Given the description of an element on the screen output the (x, y) to click on. 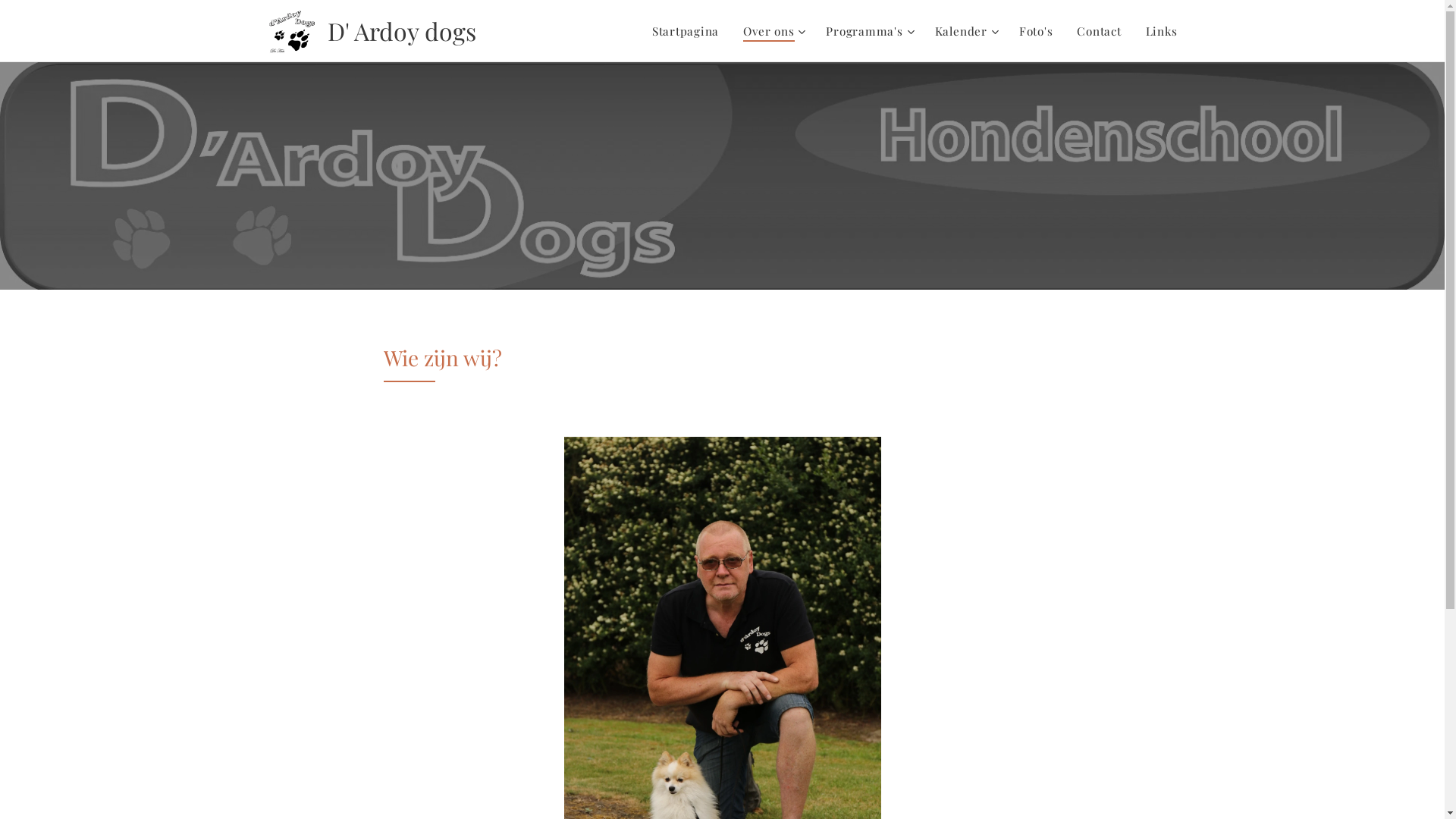
Contact Element type: text (1098, 31)
Over ons Element type: text (772, 31)
Links Element type: text (1155, 31)
Foto's Element type: text (1036, 31)
D' Ardoy dogs Element type: text (373, 31)
Programma's Element type: text (867, 31)
Kalender Element type: text (964, 31)
Startpagina Element type: text (689, 31)
